Given the description of an element on the screen output the (x, y) to click on. 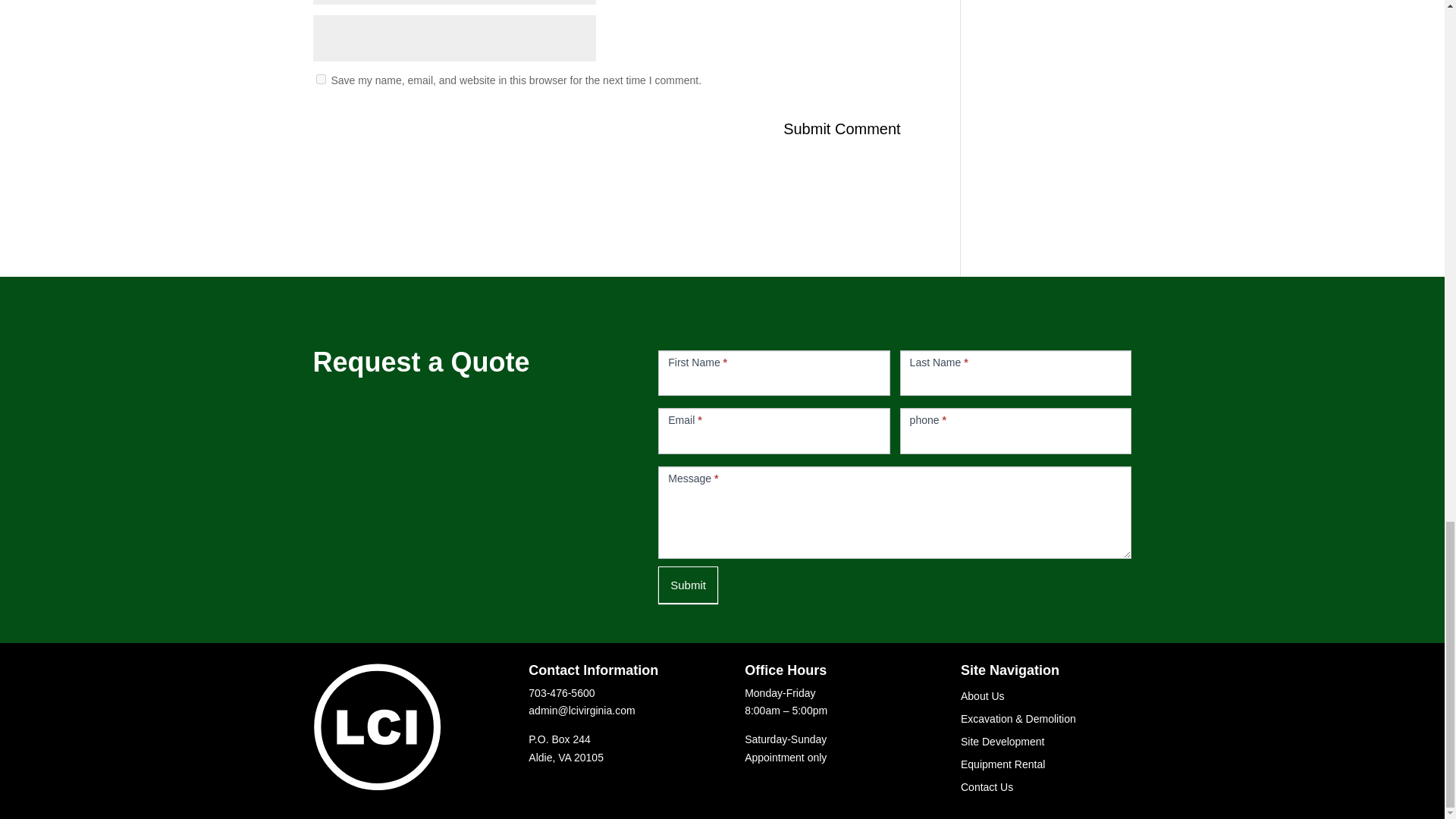
Submit Comment (841, 128)
lci-logo (377, 726)
Contact Us (986, 790)
yes (319, 79)
Submit Comment (841, 128)
About Us (982, 699)
Equipment Rental (1002, 767)
Submit (687, 584)
Site Development (1002, 744)
